Given the description of an element on the screen output the (x, y) to click on. 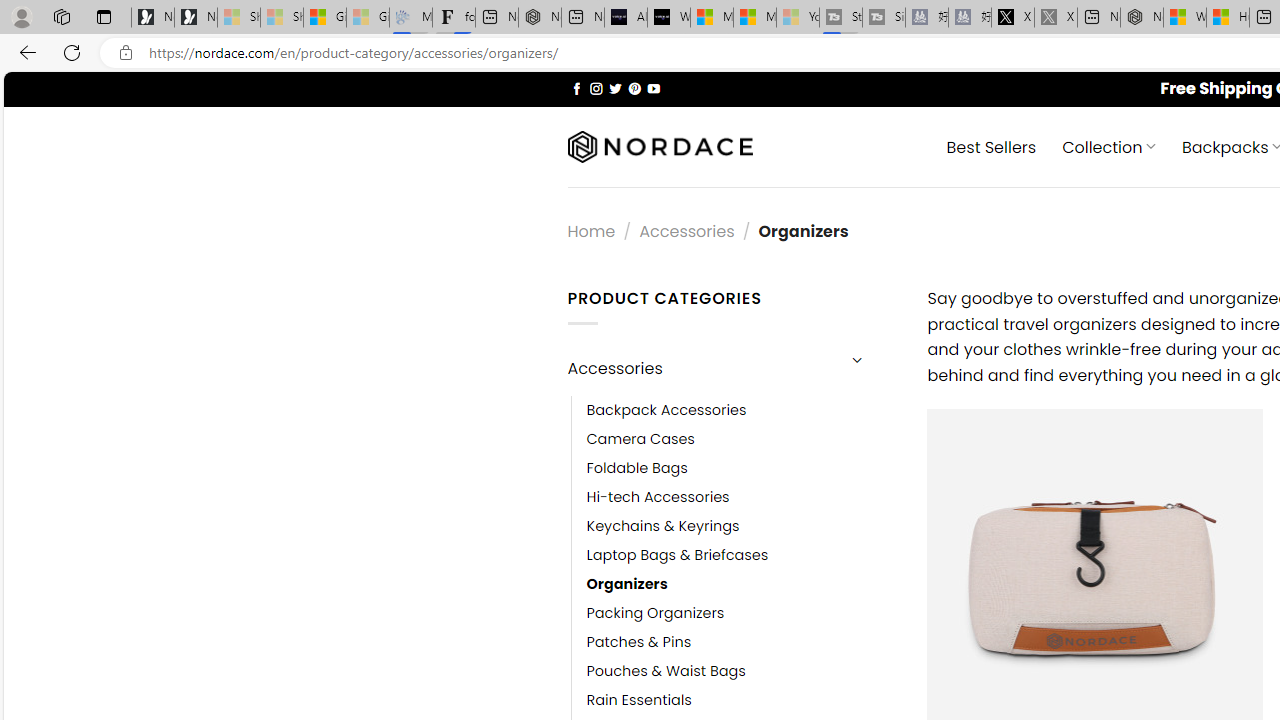
Follow on Twitter (615, 88)
Laptop Bags & Briefcases (742, 555)
Organizers (742, 584)
Nordace - #1 Japanese Best-Seller - Siena Smart Backpack (539, 17)
Laptop Bags & Briefcases (677, 555)
Packing Organizers (742, 614)
Organizers (627, 584)
Hi-tech Accessories (742, 496)
Keychains & Keyrings (742, 526)
Tab actions menu (104, 16)
Backpack Accessories (666, 409)
Follow on Instagram (596, 88)
X (1013, 17)
